Given the description of an element on the screen output the (x, y) to click on. 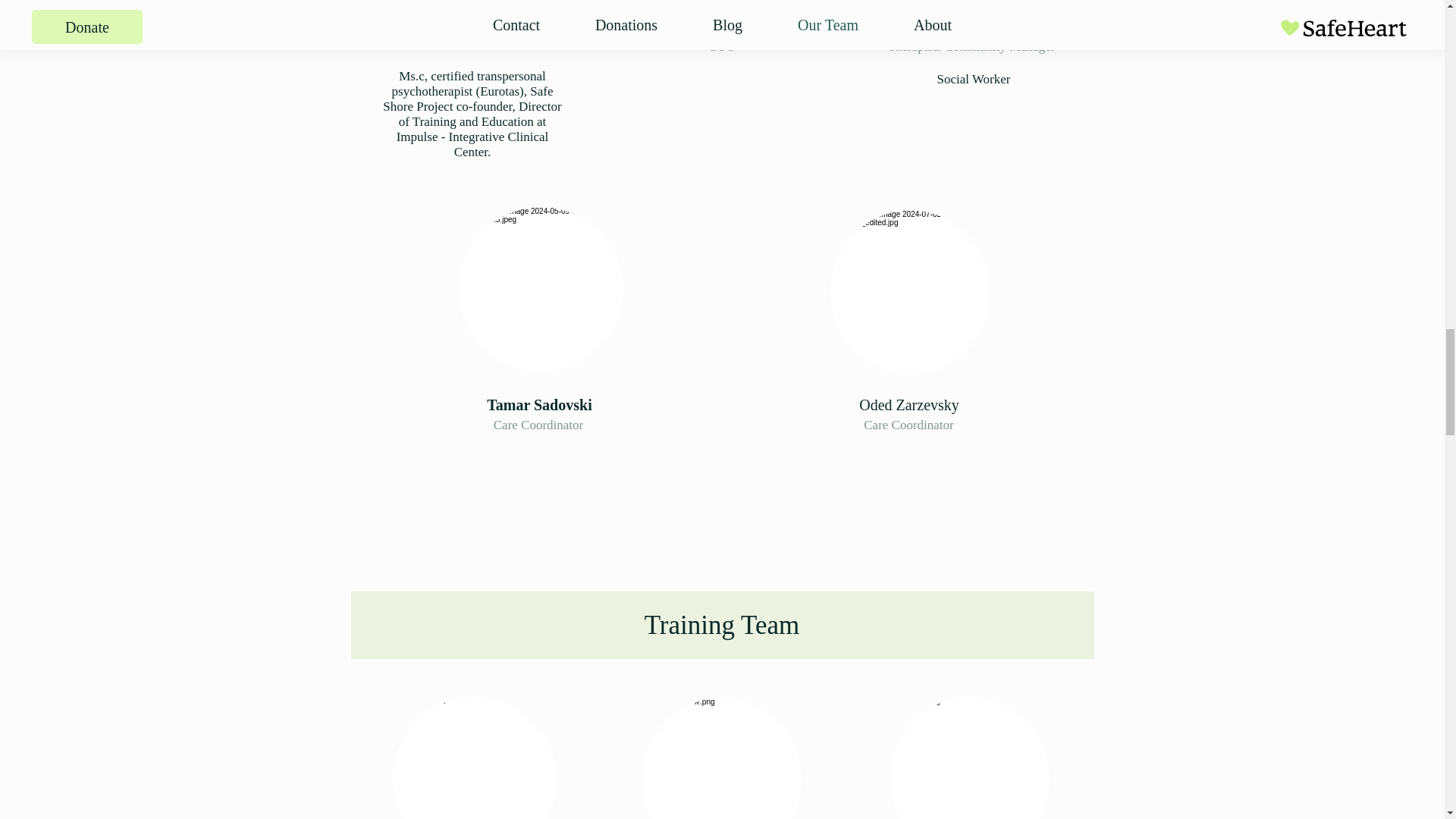
guy3.jpg (908, 291)
guy3.jpg (540, 289)
guy4.jpg (474, 757)
guy3.jpg (969, 757)
guy3.jpg (721, 758)
